Given the description of an element on the screen output the (x, y) to click on. 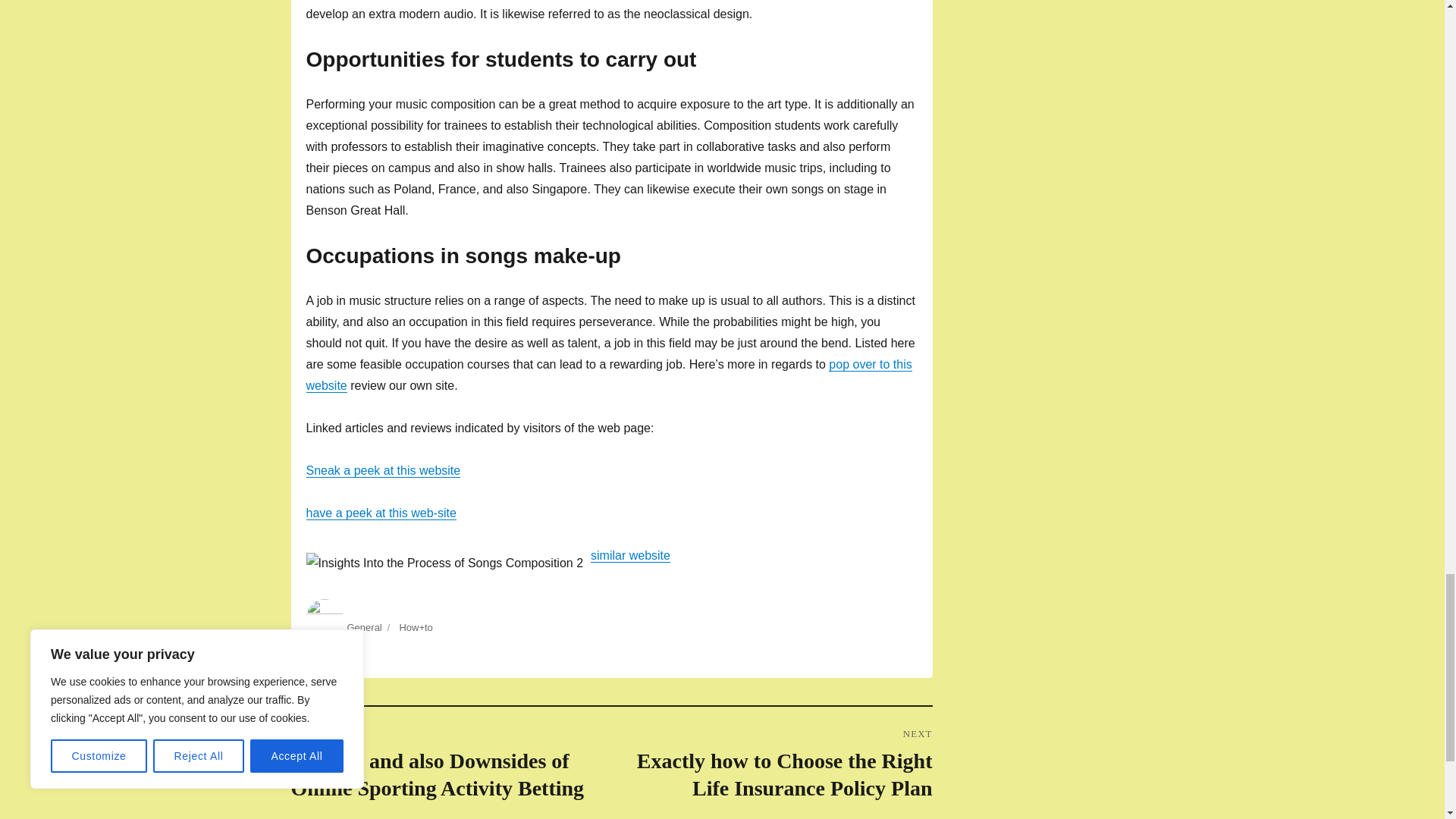
Sneak a peek at this website (383, 470)
have a peek at this web-site (381, 512)
similar website (630, 554)
pop over to this website (608, 374)
General (364, 627)
